Given the description of an element on the screen output the (x, y) to click on. 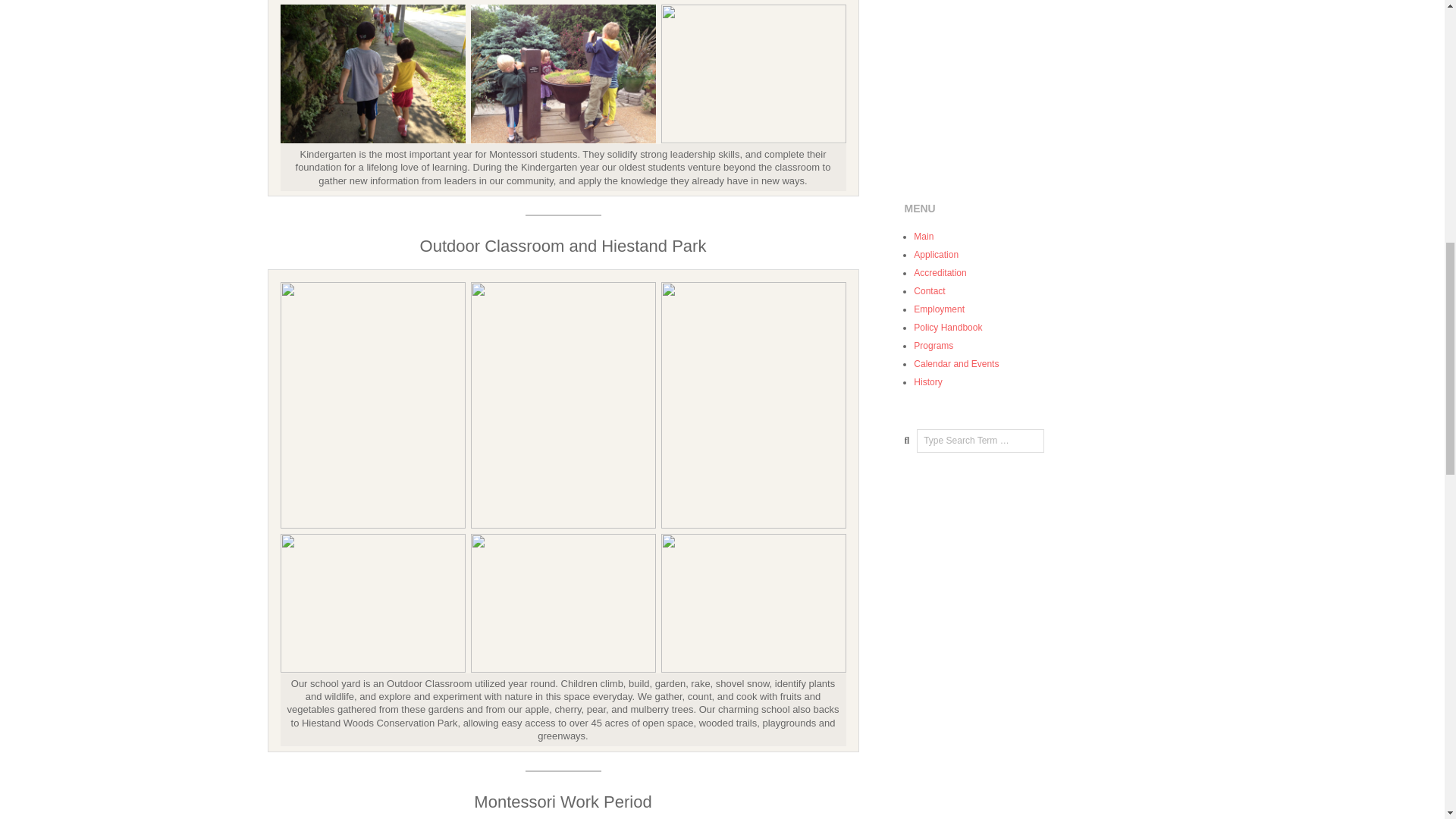
Accreditation (940, 272)
Employment (938, 308)
Main (923, 235)
Application (936, 254)
Contact (929, 290)
History (928, 381)
Policy Handbook (947, 327)
Calendar and Events (956, 363)
Programs (933, 345)
